Given the description of an element on the screen output the (x, y) to click on. 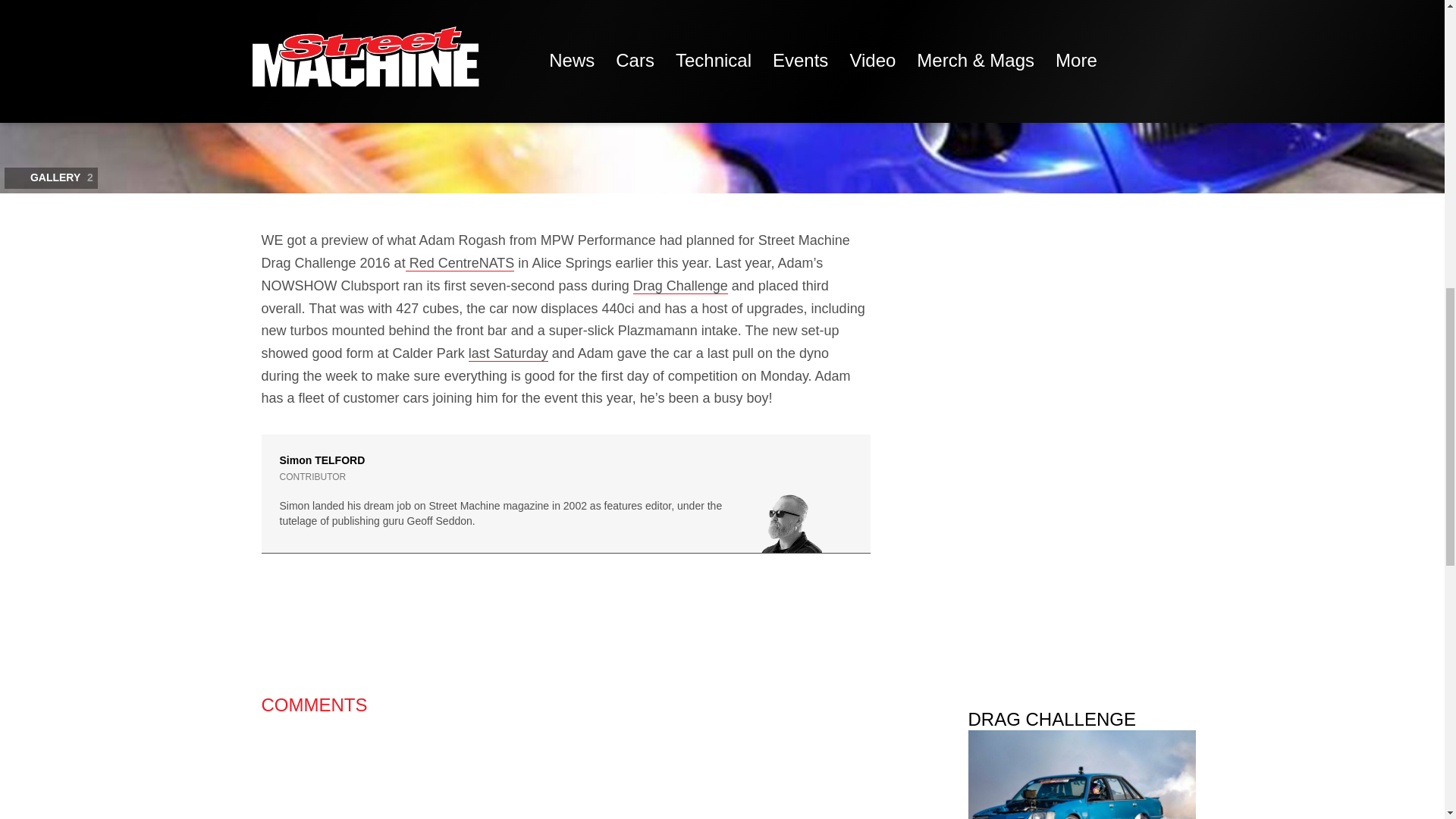
3rd party ad content (565, 635)
